Given the description of an element on the screen output the (x, y) to click on. 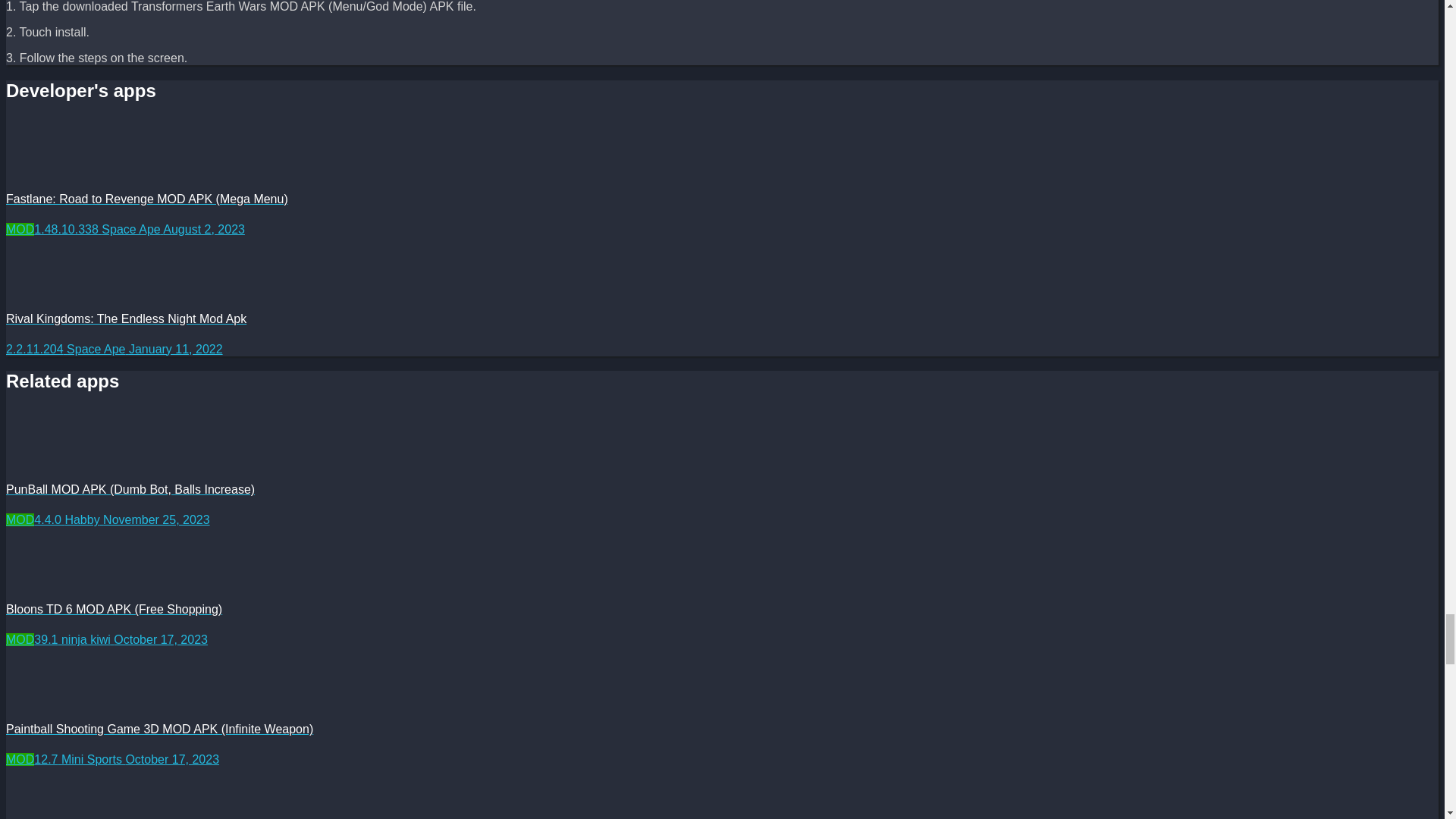
Rival Kingdoms: The Endless Night Mod Apk (41, 272)
